Given the description of an element on the screen output the (x, y) to click on. 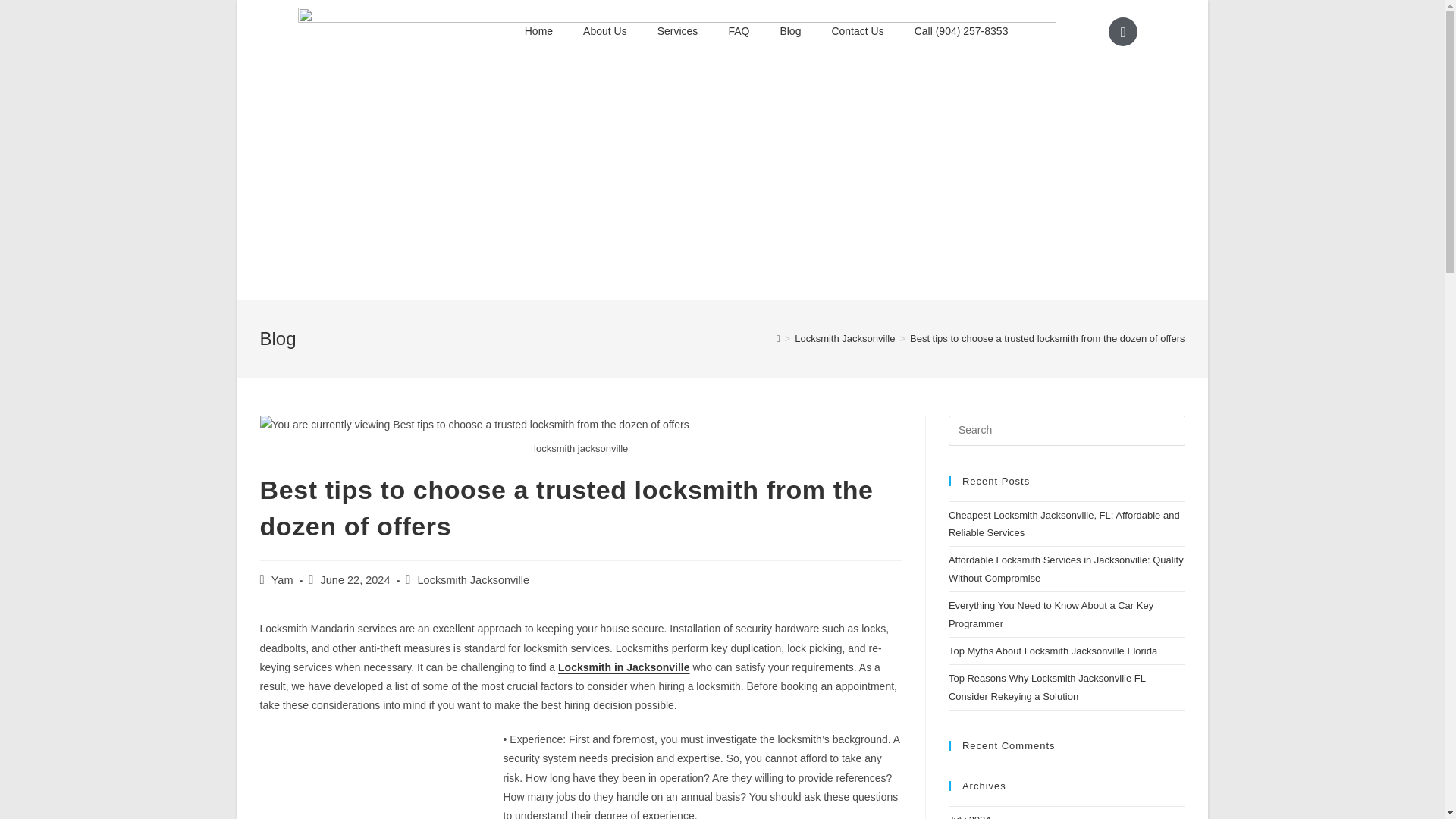
Home (538, 30)
About Us (604, 30)
Contact Us (856, 30)
Services (677, 30)
FAQ (738, 30)
Posts by Yam (282, 580)
Blog (789, 30)
